Given the description of an element on the screen output the (x, y) to click on. 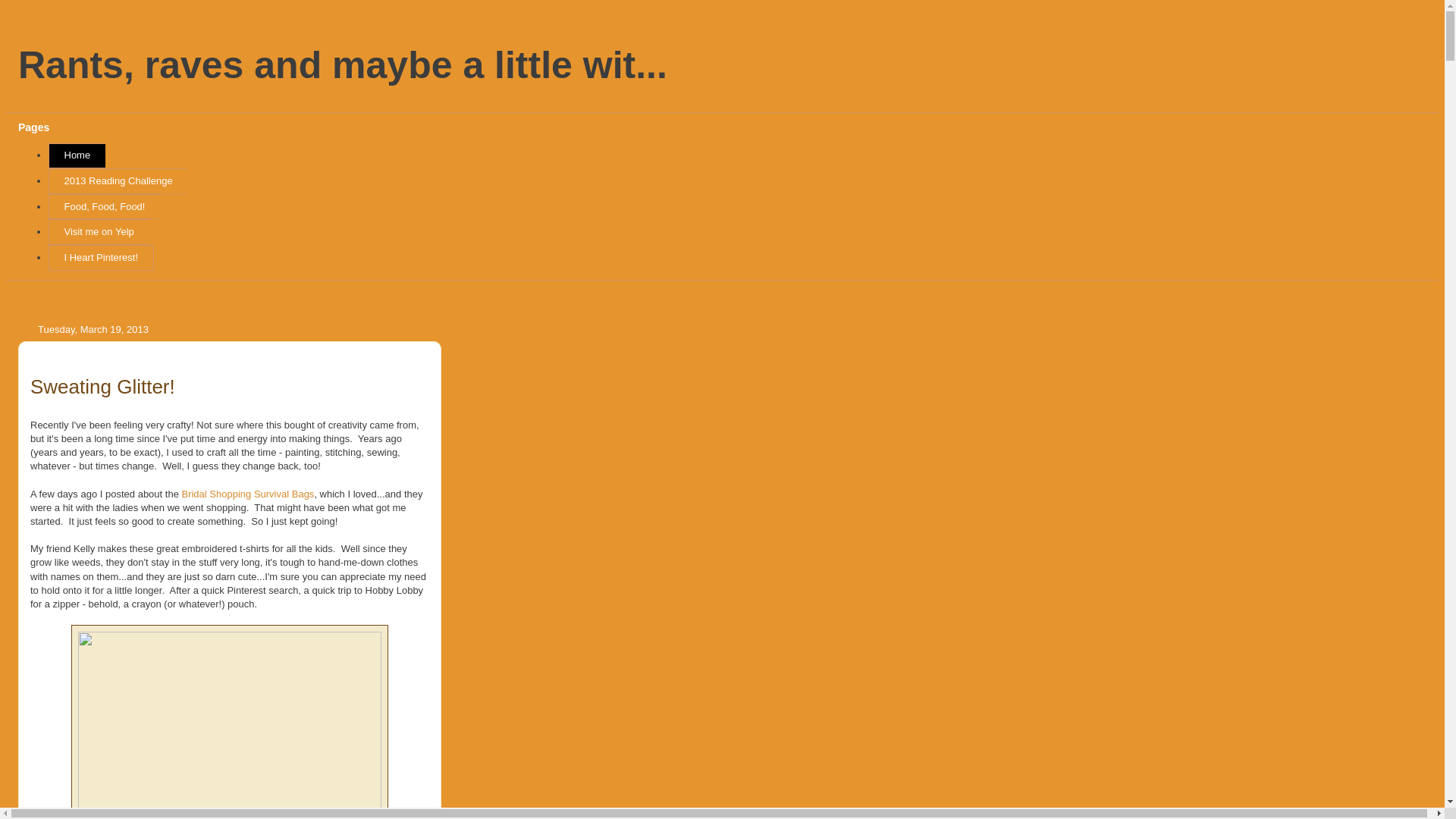
Sweating Glitter! (102, 386)
Home (76, 155)
Bridal Shopping Survival Bags (247, 493)
Food, Food, Food! (104, 207)
2013 Reading Challenge (117, 181)
Visit me on Yelp (98, 231)
I Heart Pinterest! (101, 257)
